Given the description of an element on the screen output the (x, y) to click on. 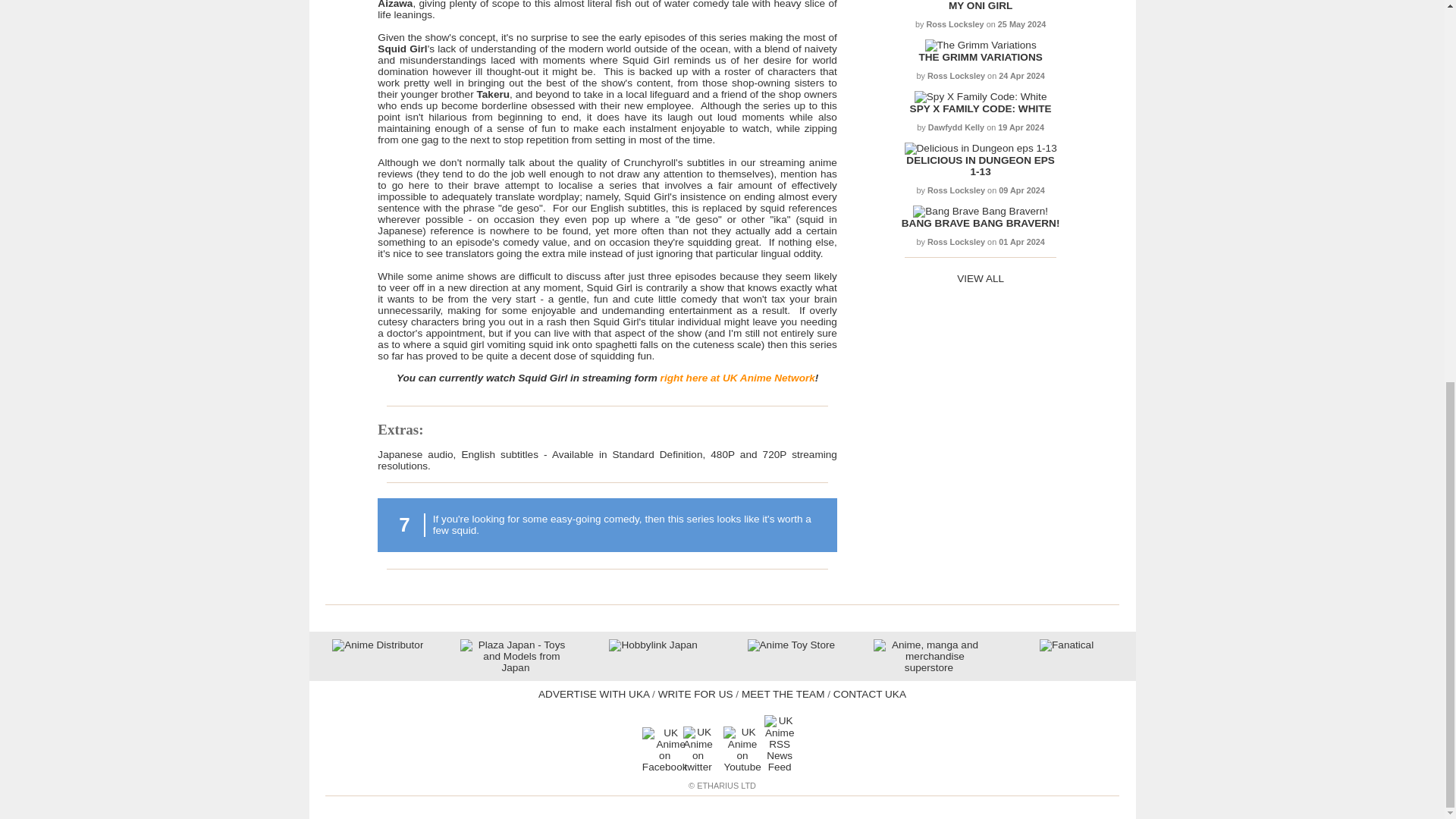
My Oni Girl (980, 5)
MY ONI GIRL (980, 5)
The Grimm Variations (980, 57)
The Grimm Variations (980, 44)
Spy X Family Code: White (980, 96)
SPY X FAMILY CODE: WHITE (980, 108)
Anime Distributor (377, 644)
DELICIOUS IN DUNGEON EPS 1-13 (979, 165)
BANG BRAVE BANG BRAVERN! (980, 223)
ADVERTISE WITH UKA (593, 694)
VIEW ALL (980, 278)
Spy X Family Code: White (980, 108)
Delicious in Dungeon eps 1-13 (979, 165)
Bang Brave Bang Bravern! (980, 223)
THE GRIMM VARIATIONS (980, 57)
